Given the description of an element on the screen output the (x, y) to click on. 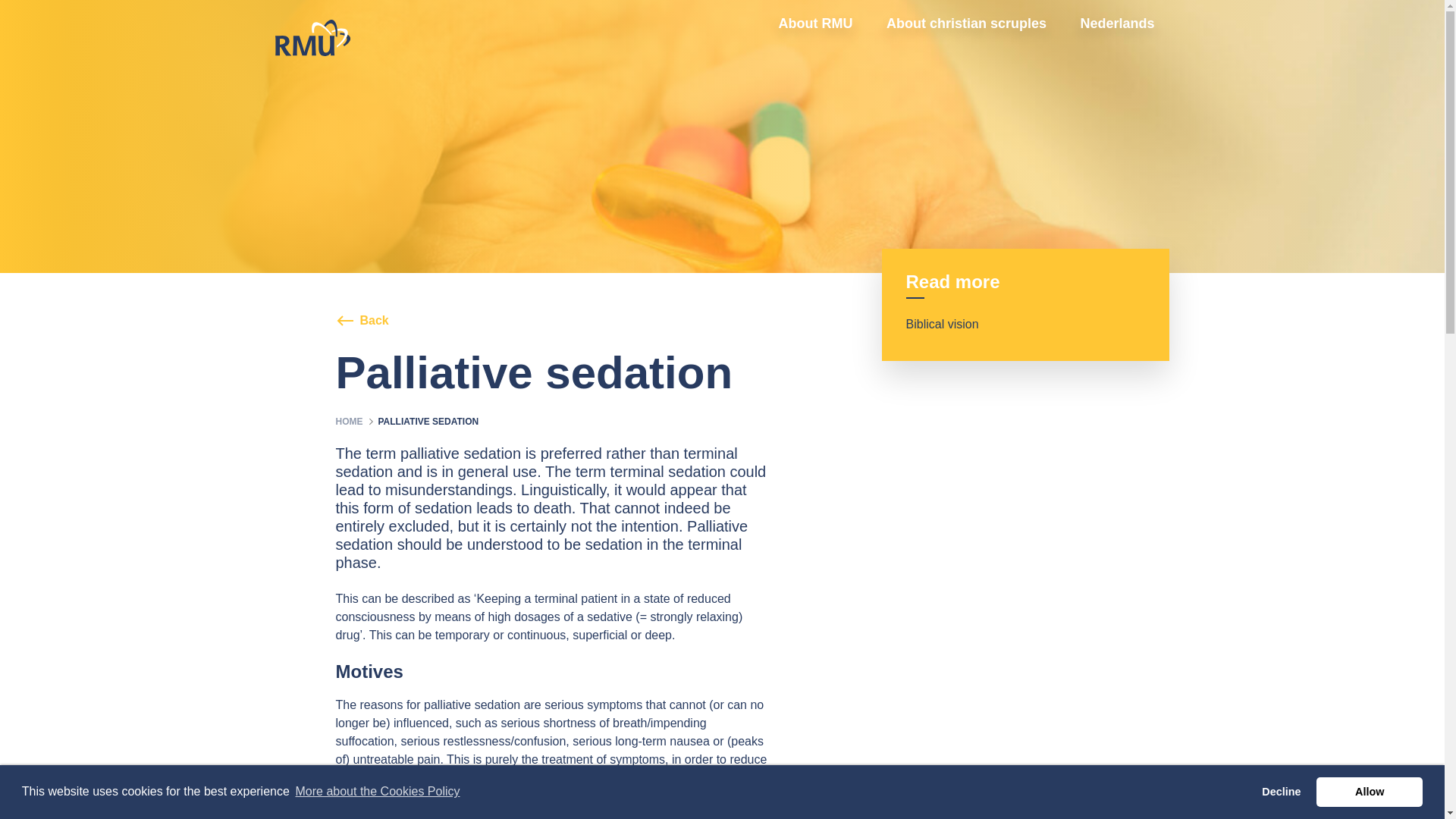
About christian scruples (966, 23)
About RMU (815, 23)
Nederlands (1117, 23)
Nederlands (1117, 23)
Home (348, 420)
More about the Cookies Policy (376, 791)
About christian scruples (966, 23)
Decline (1281, 791)
Allow (1369, 791)
About RMU (815, 23)
HOME (348, 420)
Biblical vision (954, 324)
Back (361, 320)
